Given the description of an element on the screen output the (x, y) to click on. 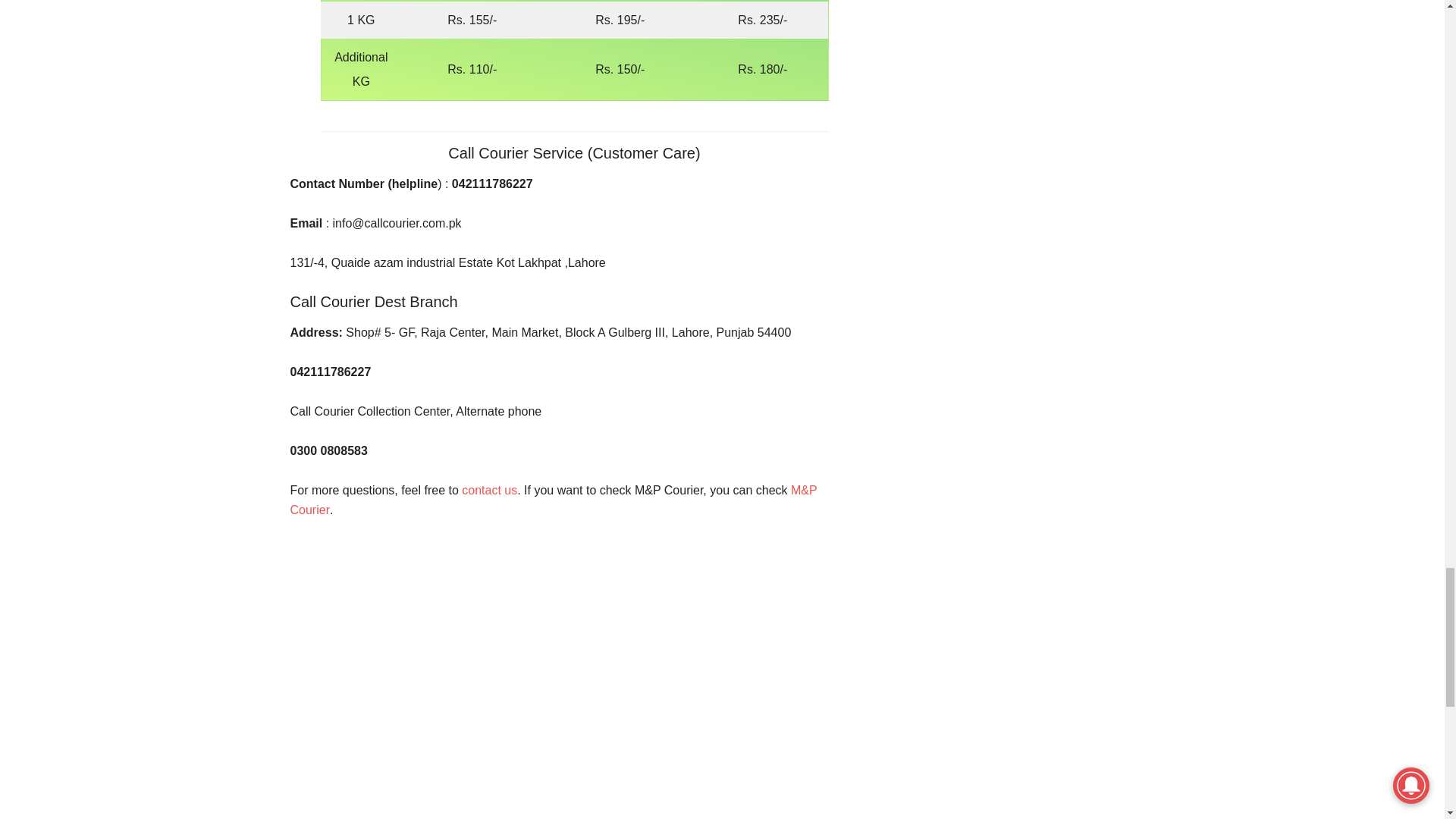
contact us (488, 490)
